Given the description of an element on the screen output the (x, y) to click on. 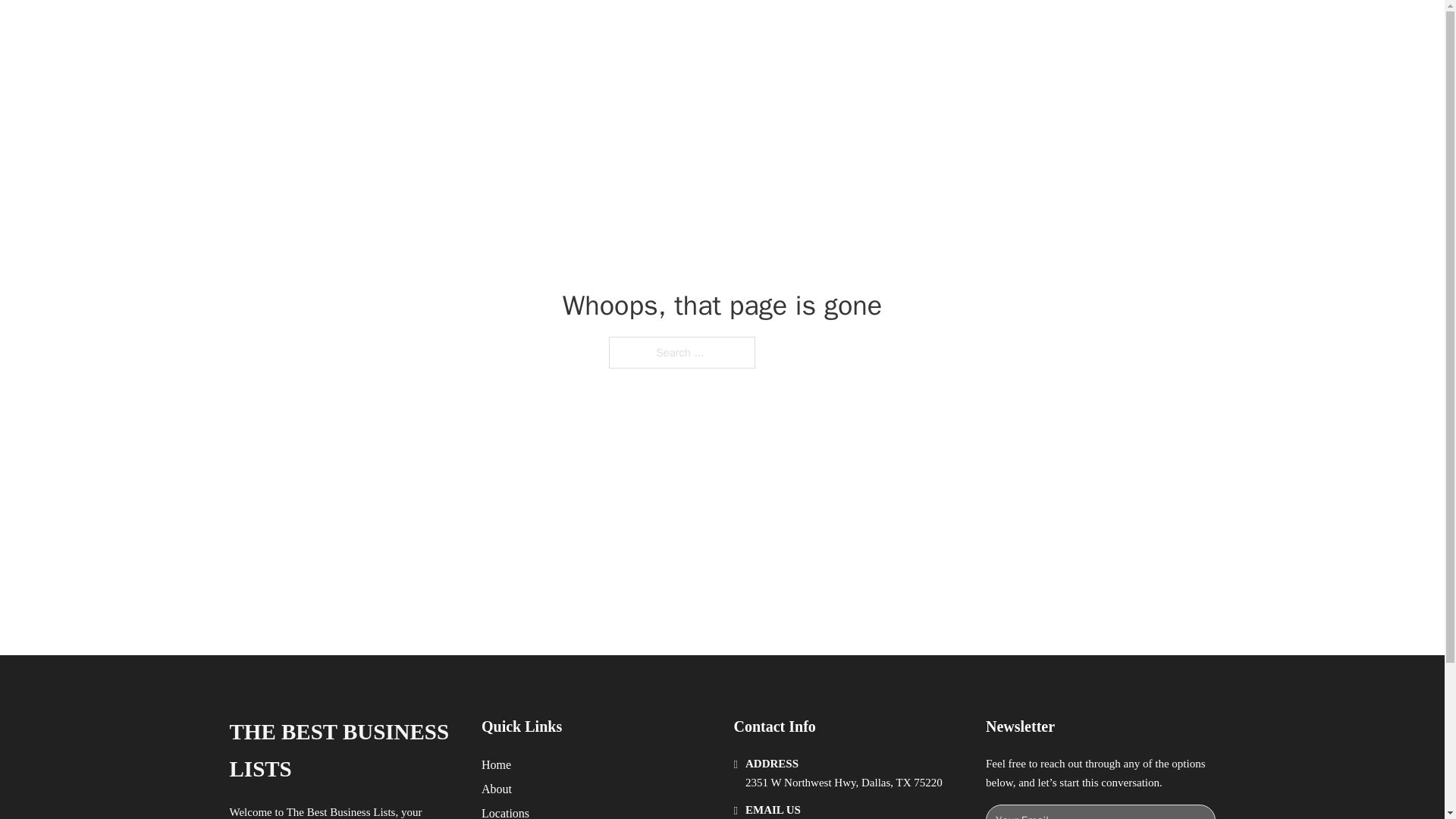
THE BEST BUSINESS LISTS (443, 28)
Locations (505, 811)
About (496, 788)
THE BEST BUSINESS LISTS (343, 750)
LOCATIONS (990, 29)
HOME (919, 29)
Home (496, 764)
